Given the description of an element on the screen output the (x, y) to click on. 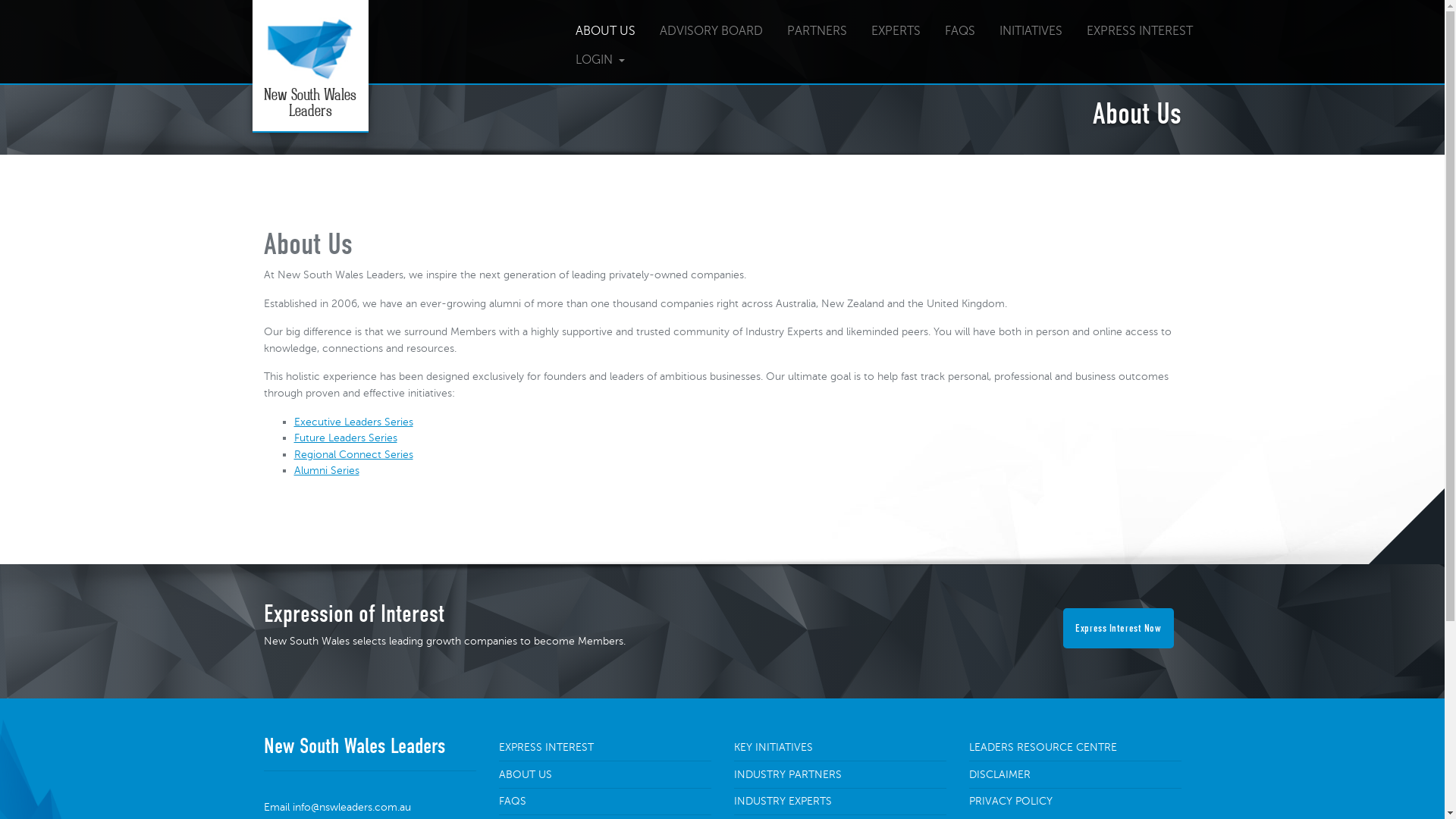
Regional Connect Series Element type: text (353, 454)
Alumni Series Element type: text (326, 470)
INITIATIVES Element type: text (1030, 30)
INDUSTRY EXPERTS Element type: text (782, 800)
FAQS Element type: text (959, 30)
EXPERTS Element type: text (894, 30)
New South Wales
Leaders Element type: text (309, 66)
PARTNERS Element type: text (817, 30)
EXPRESS INTEREST Element type: text (545, 746)
Express Interest Now Element type: text (1118, 628)
Executive Leaders Series Element type: text (353, 421)
LOGIN Element type: text (600, 59)
LEADERS RESOURCE CENTRE Element type: text (1043, 746)
KEY INITIATIVES Element type: text (773, 746)
DISCLAIMER Element type: text (999, 774)
INDUSTRY PARTNERS Element type: text (787, 774)
FAQS Element type: text (512, 800)
ADVISORY BOARD Element type: text (710, 30)
Future Leaders Series Element type: text (345, 437)
ABOUT US Element type: text (604, 30)
ABOUT US Element type: text (525, 774)
PRIVACY POLICY Element type: text (1010, 800)
EXPRESS INTEREST Element type: text (1138, 30)
info@nswleaders.com.au Element type: text (351, 806)
